Given the description of an element on the screen output the (x, y) to click on. 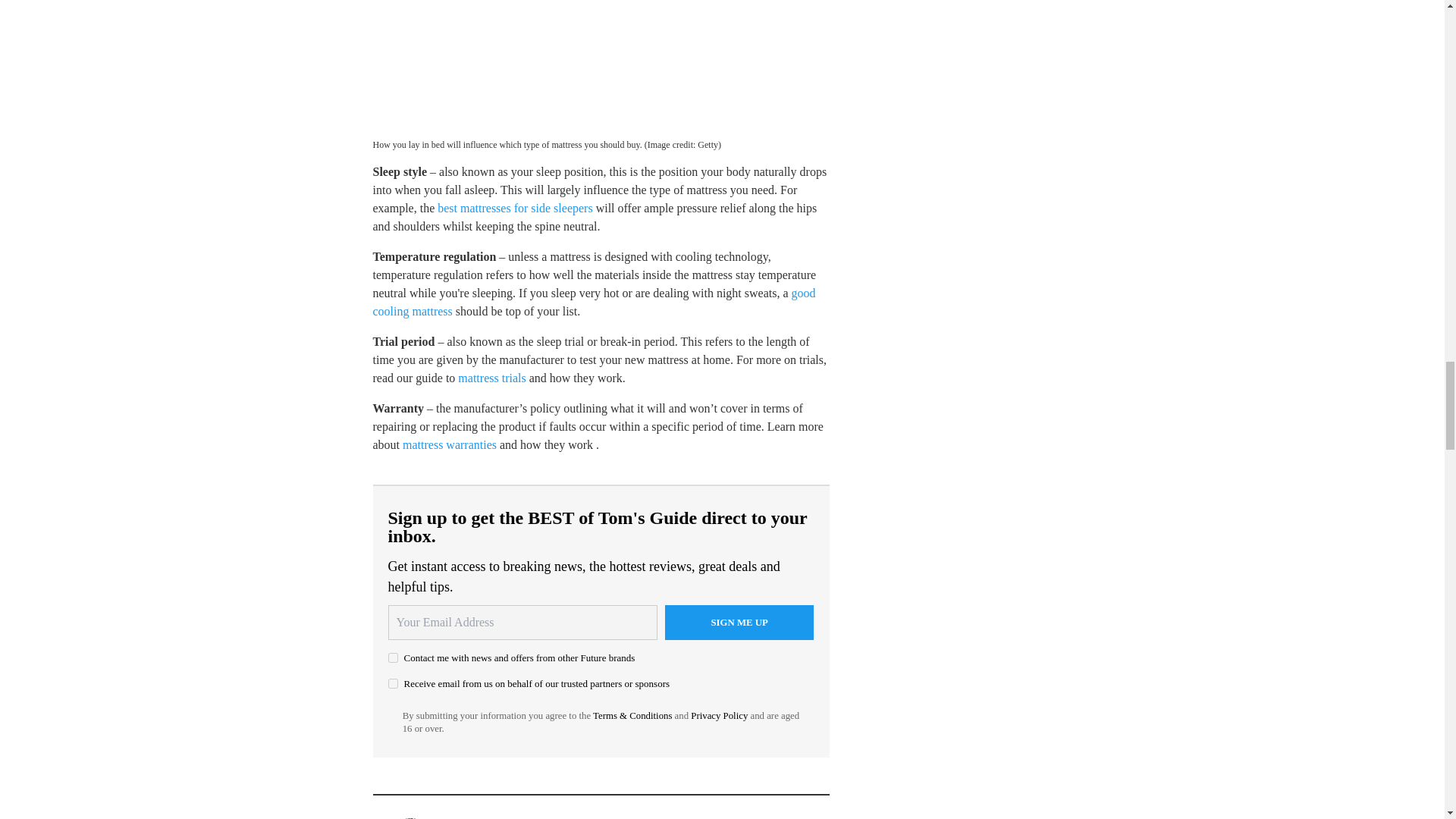
on (392, 657)
Sign me up (739, 622)
on (392, 683)
